Given the description of an element on the screen output the (x, y) to click on. 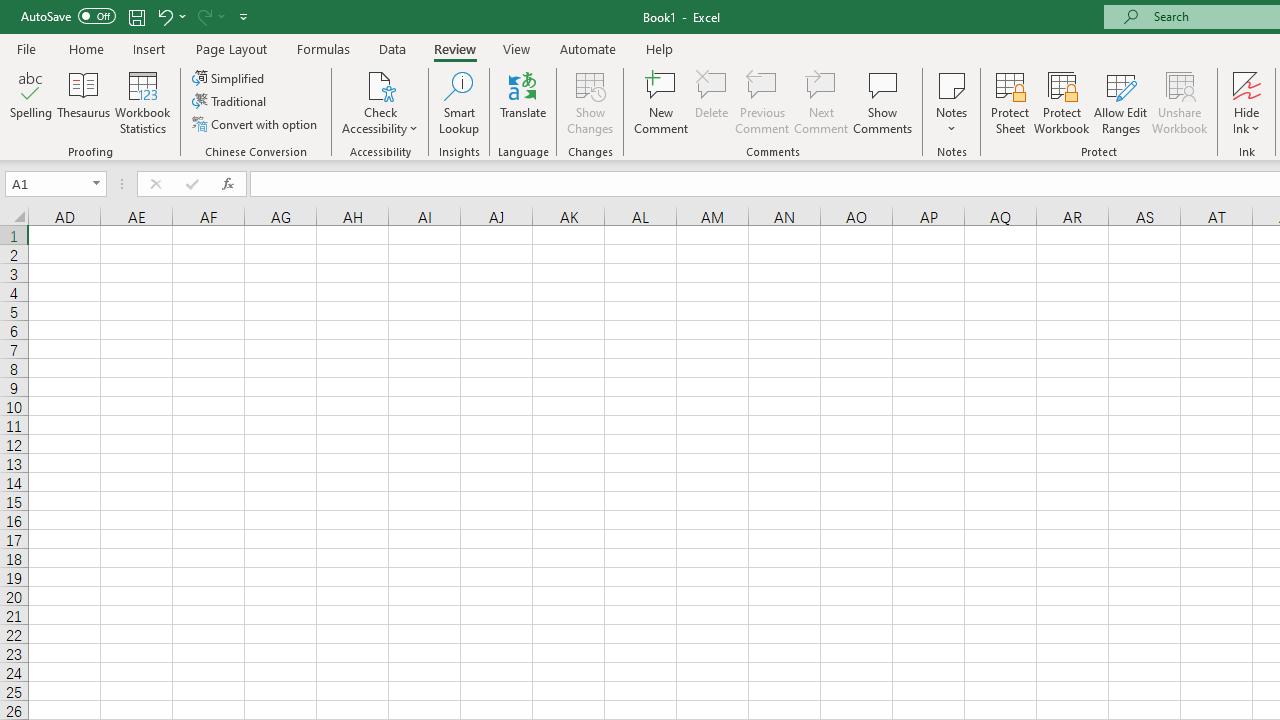
Show Comments (883, 102)
Thesaurus... (83, 102)
Allow Edit Ranges (1120, 102)
Unshare Workbook (1179, 102)
Delete (712, 102)
Traditional (230, 101)
